Given the description of an element on the screen output the (x, y) to click on. 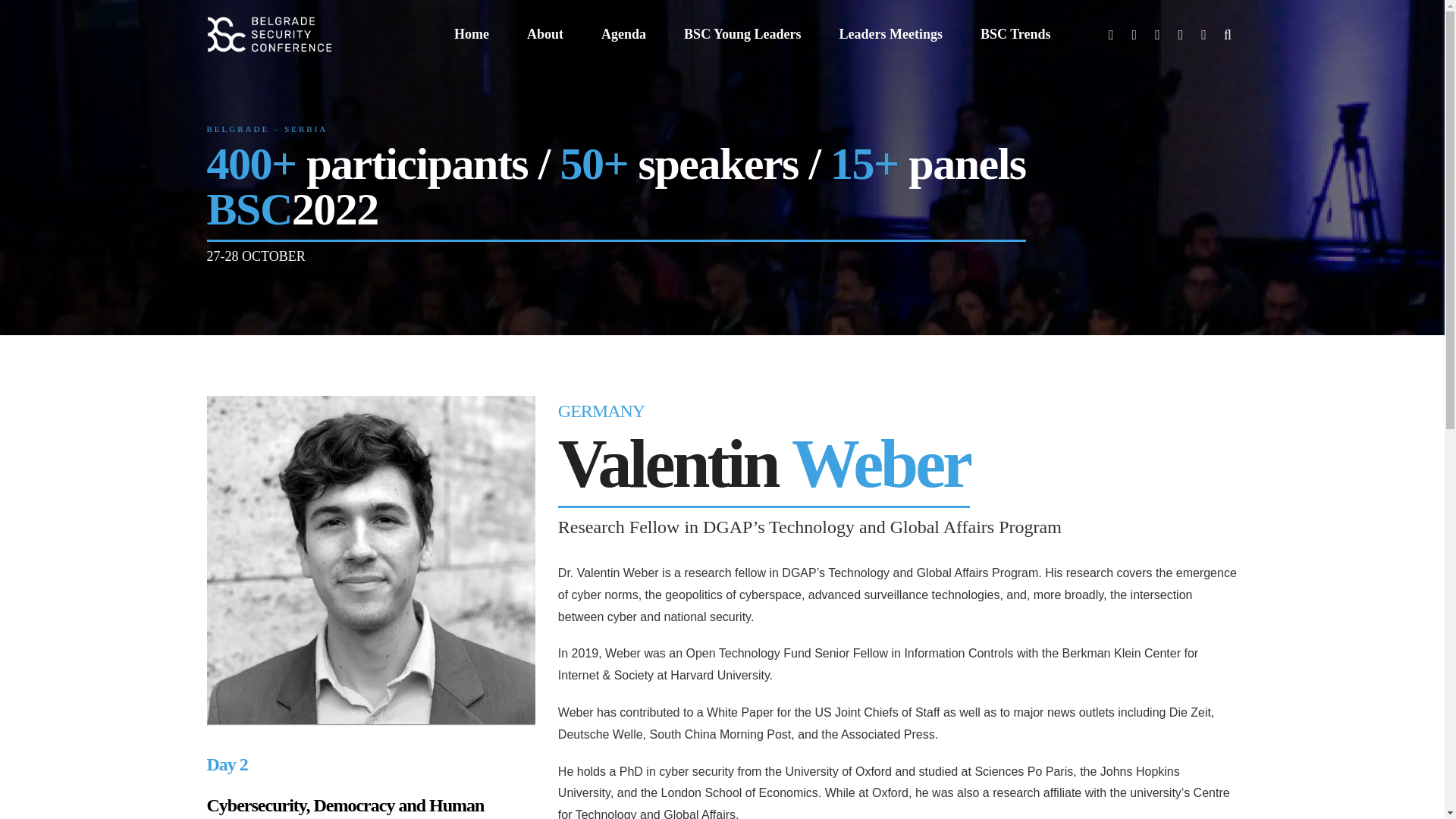
Leaders Meetings (890, 34)
BSC Trends (1015, 34)
Home (471, 34)
Agenda (623, 34)
BSC Young Leaders (742, 34)
About (545, 34)
